Given the description of an element on the screen output the (x, y) to click on. 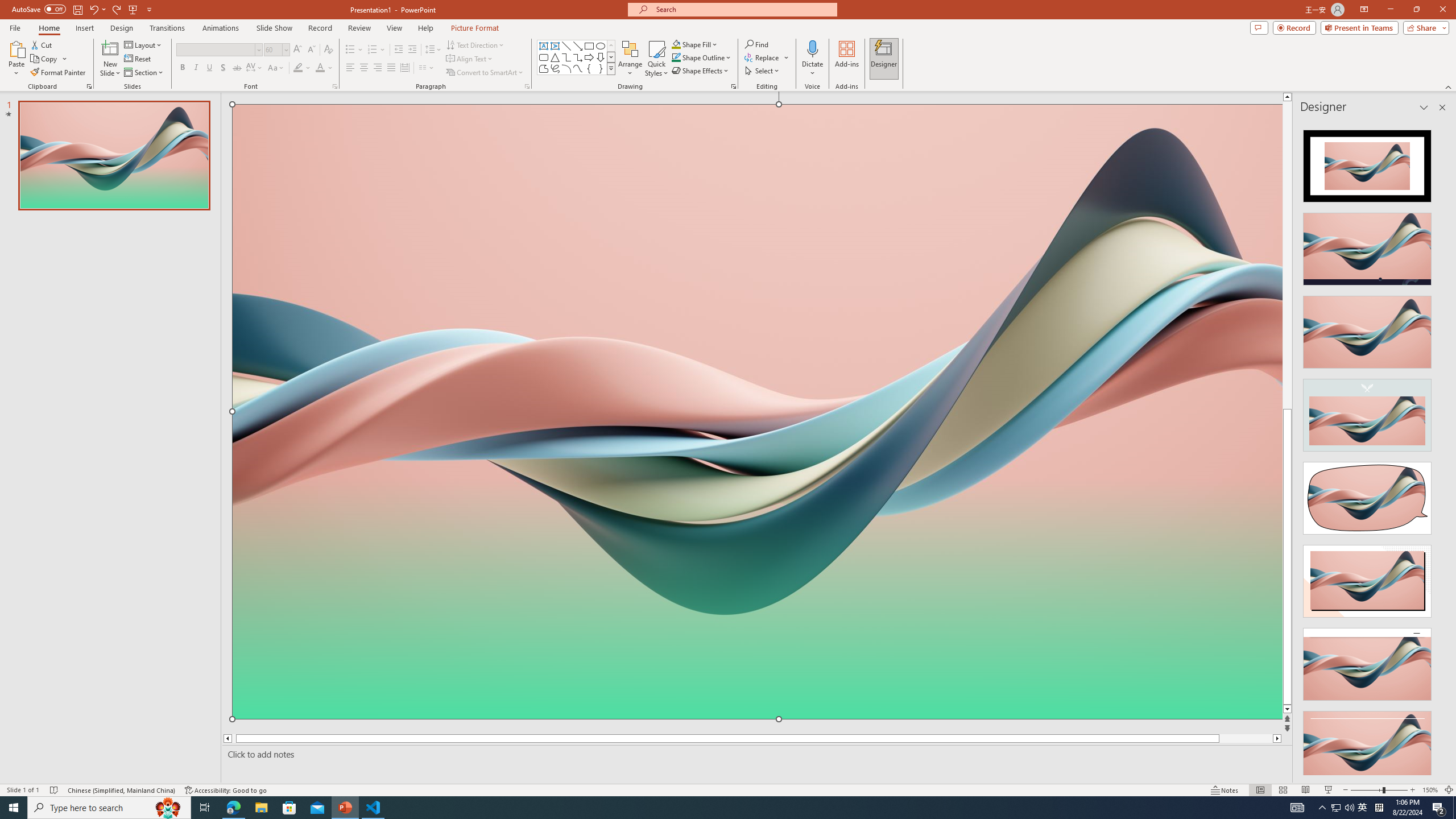
Recommended Design: Design Idea (1366, 162)
Class: NetUIScrollBar (1441, 447)
